Given the description of an element on the screen output the (x, y) to click on. 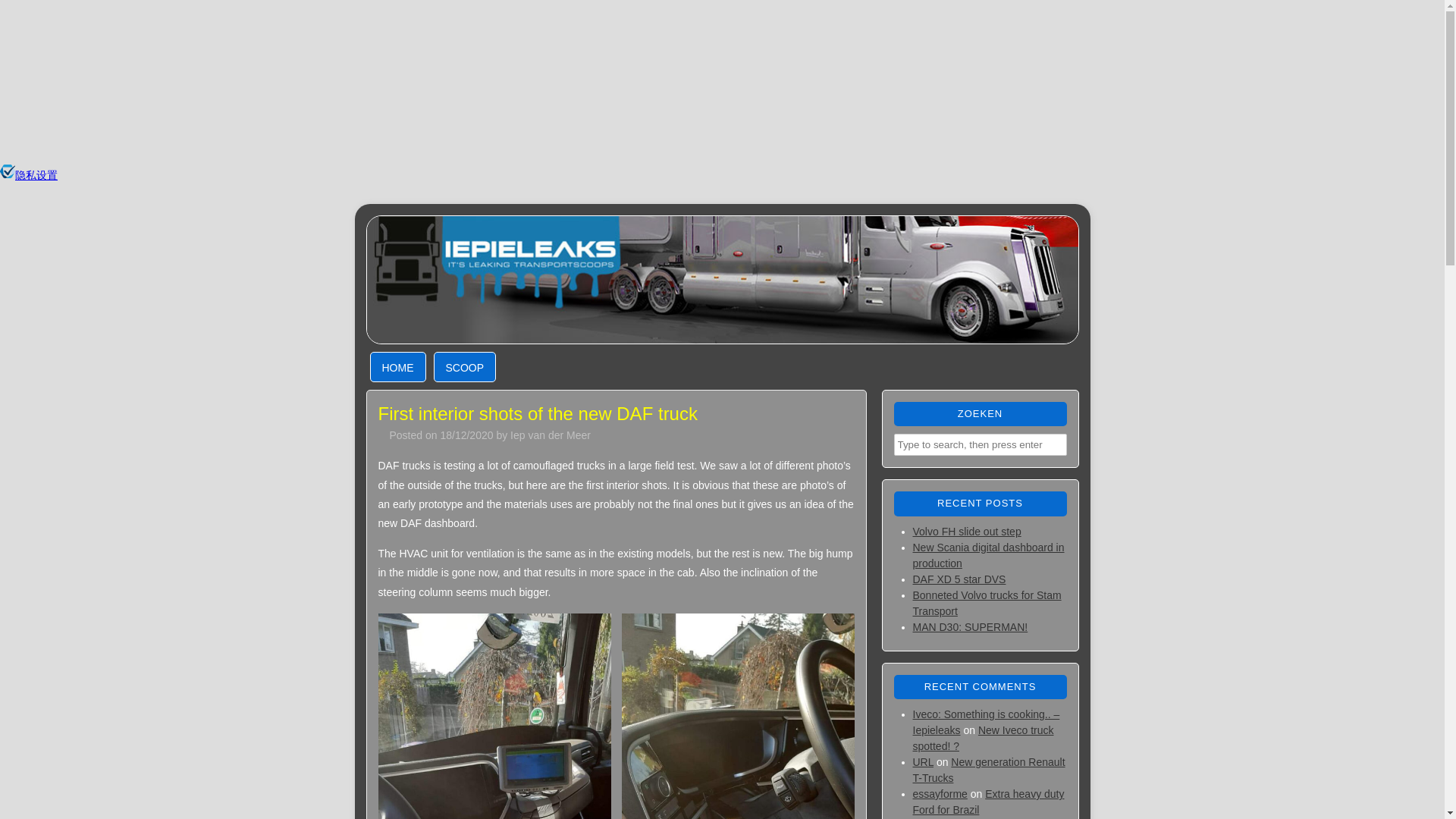
SCOOP (464, 367)
Volvo FH slide out step (967, 530)
New Scania digital dashboard in production (988, 555)
Iep van der Meer (551, 435)
DAF XD 5 star DVS (959, 579)
URL (923, 761)
HOME (397, 367)
Search (23, 10)
essayforme (940, 793)
New generation Renault T-Trucks (988, 769)
